Given the description of an element on the screen output the (x, y) to click on. 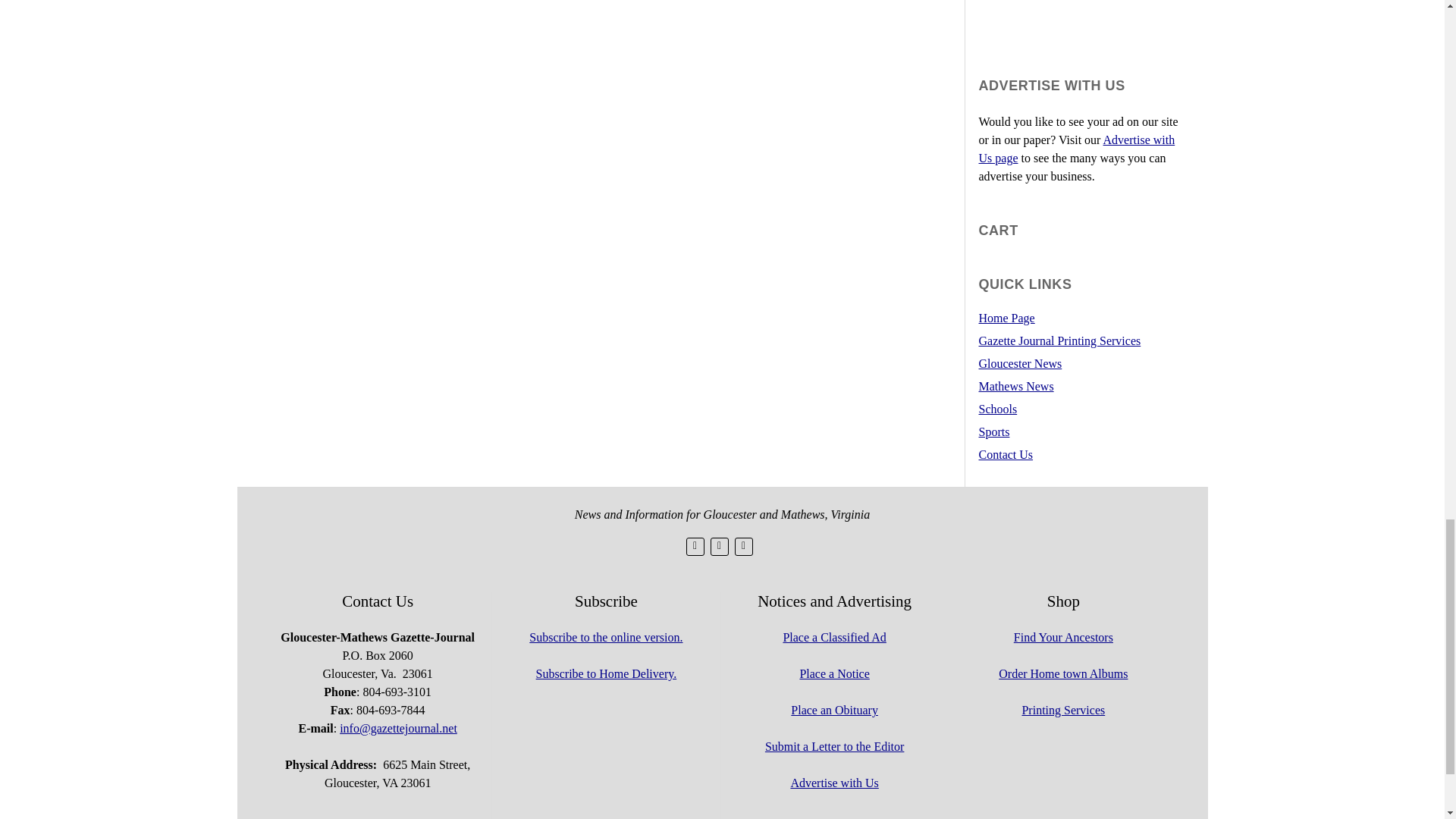
instagram (742, 546)
facebook (719, 546)
twitter (694, 546)
